Given the description of an element on the screen output the (x, y) to click on. 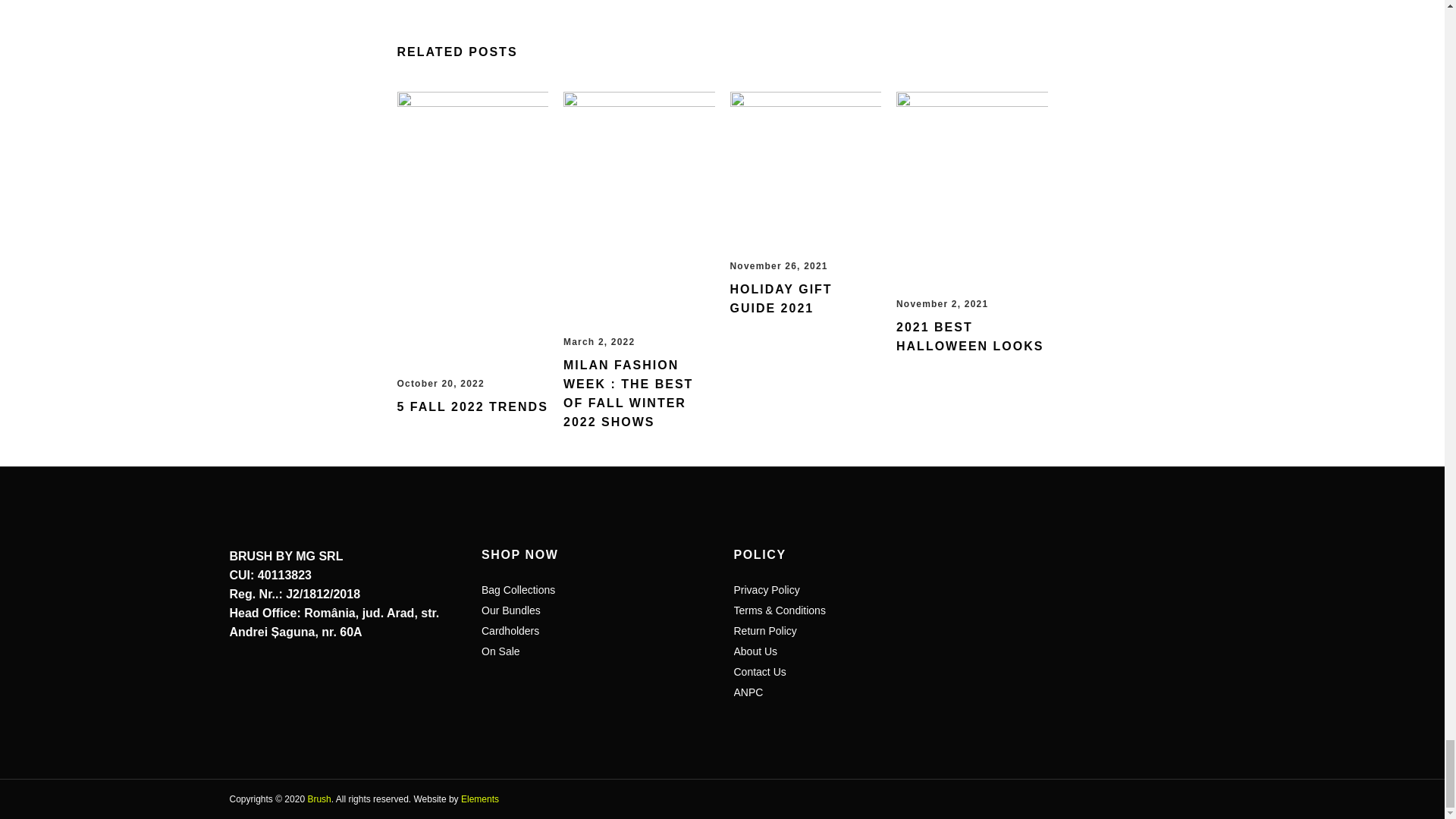
5 FALL 2022 TRENDS (472, 406)
March 2, 2022 (598, 341)
MILAN FASHION WEEK : THE BEST OF FALL WINTER 2022 SHOWS (628, 393)
October 20, 2022 (440, 383)
MILAN FASHION WEEK : THE BEST OF FALL WINTER 2022 SHOWS (628, 393)
HOLIDAY GIFT GUIDE 2021 (780, 298)
HOLIDAY GIFT GUIDE 2021 (804, 167)
2021 BEST HALLOWEEN LOOKS (969, 336)
5 FALL 2022 TRENDS (472, 406)
